Given the description of an element on the screen output the (x, y) to click on. 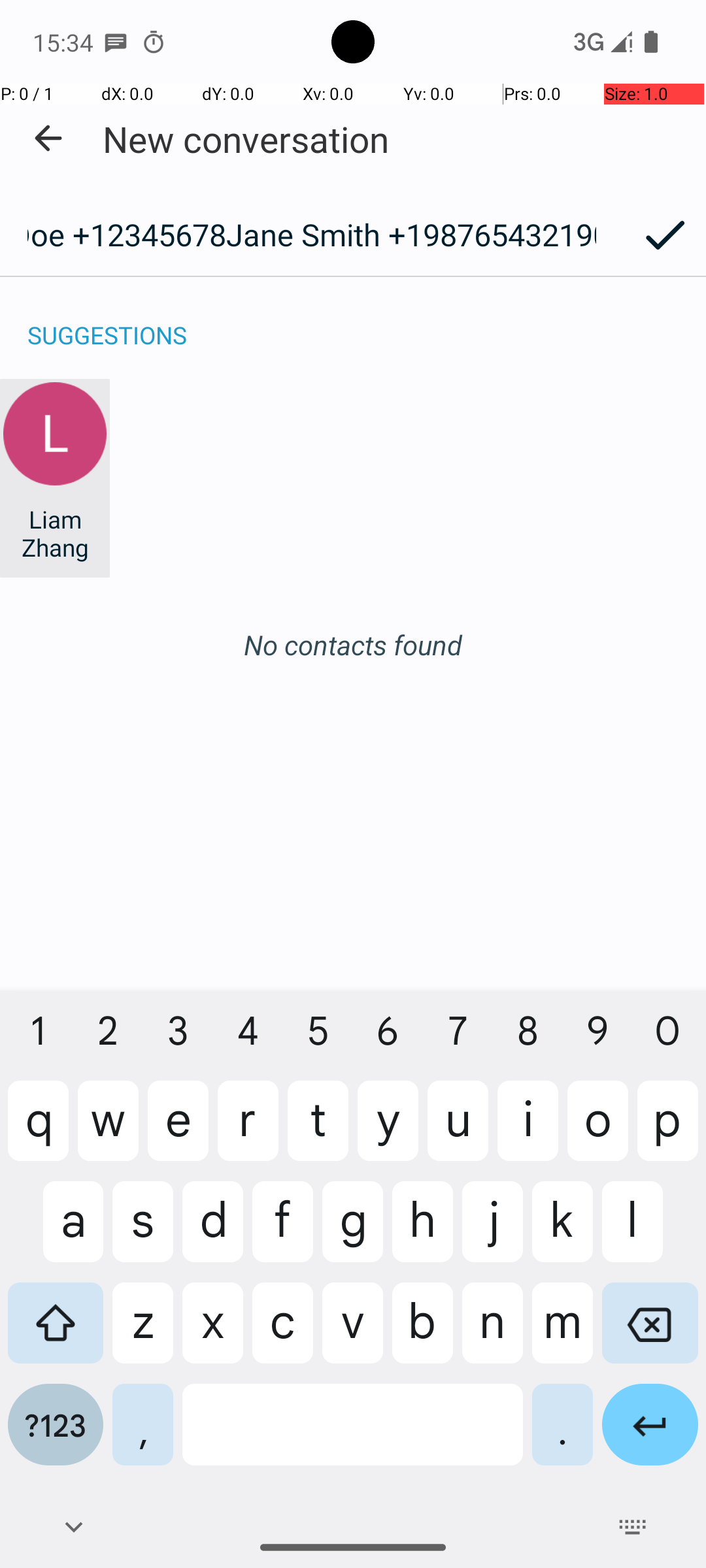
John Doe +12345678Jane Smith +198765432190 Element type: android.widget.EditText (311, 234)
SUGGESTIONS Element type: android.widget.TextView (106, 321)
Liam Zhang Element type: android.widget.TextView (54, 532)
SMS Messenger notification: Liam Zhang Element type: android.widget.ImageView (115, 41)
